Given the description of an element on the screen output the (x, y) to click on. 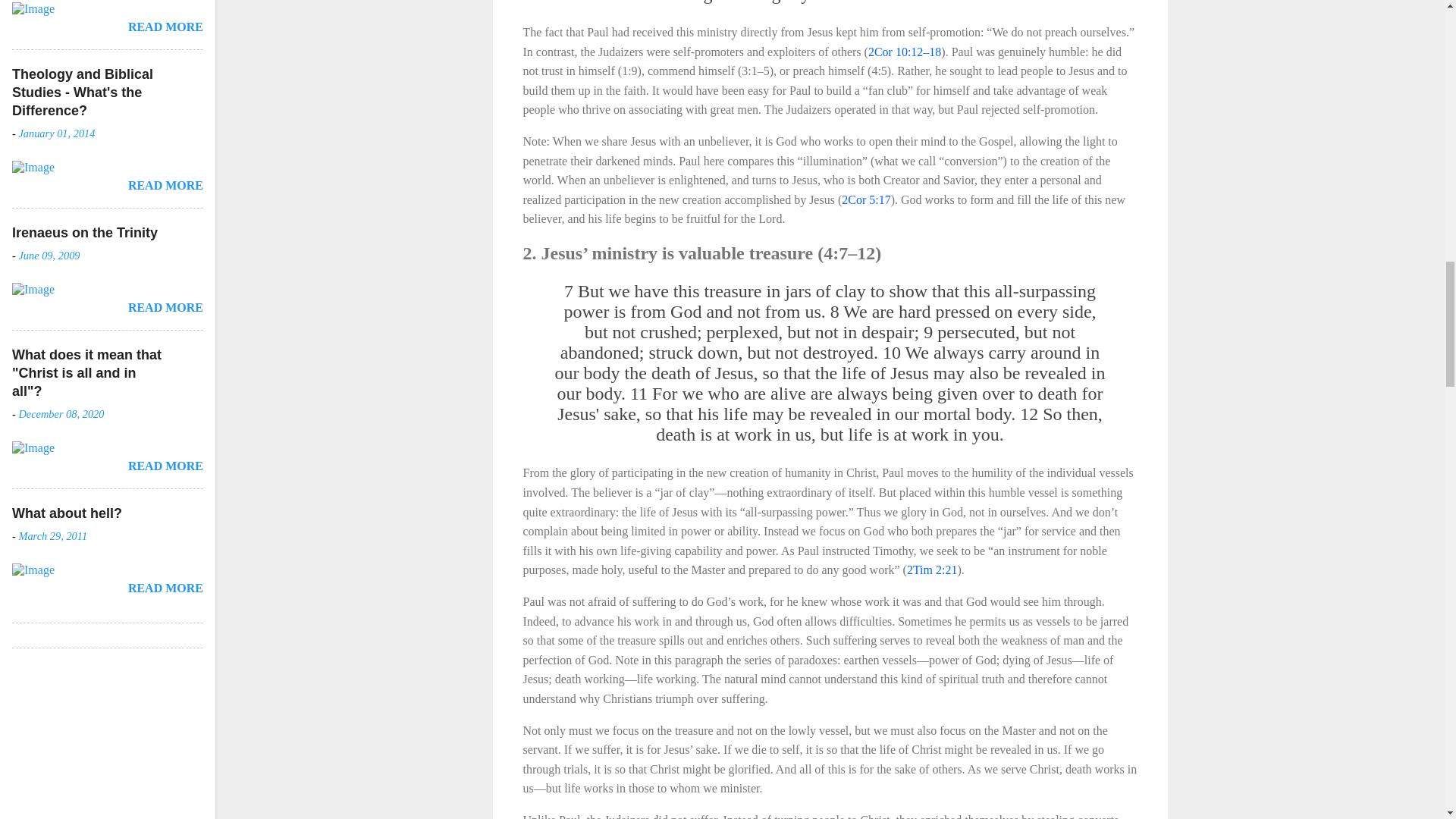
2Tim 2:21 (932, 569)
2Cor 5:17 (865, 199)
